Given the description of an element on the screen output the (x, y) to click on. 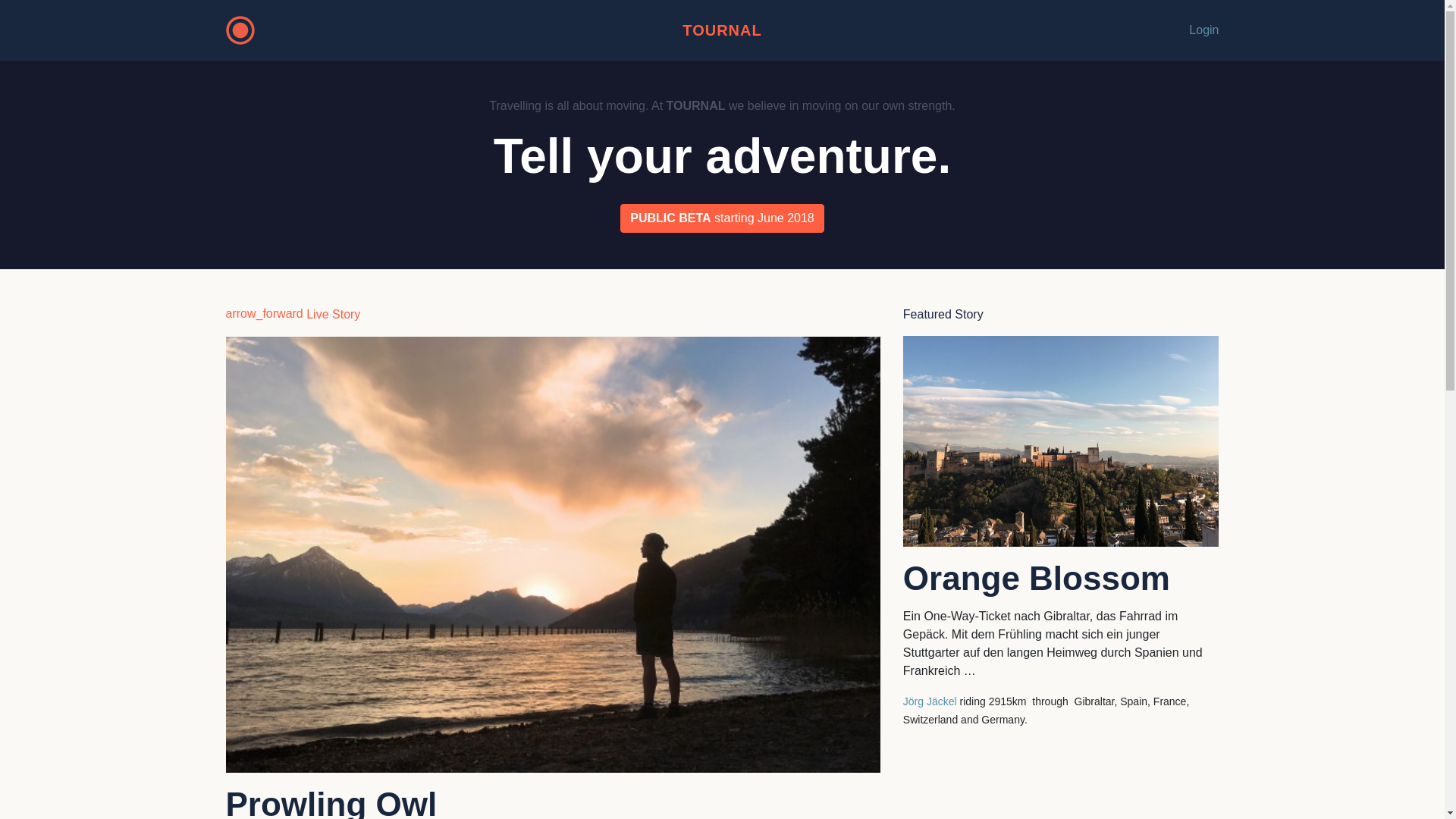
Login Element type: text (1203, 29)
Orange Blossom Element type: text (1061, 578)
TOURNAL Element type: text (722, 30)
PUBLIC BETA starting June 2018 Element type: text (721, 217)
